Given the description of an element on the screen output the (x, y) to click on. 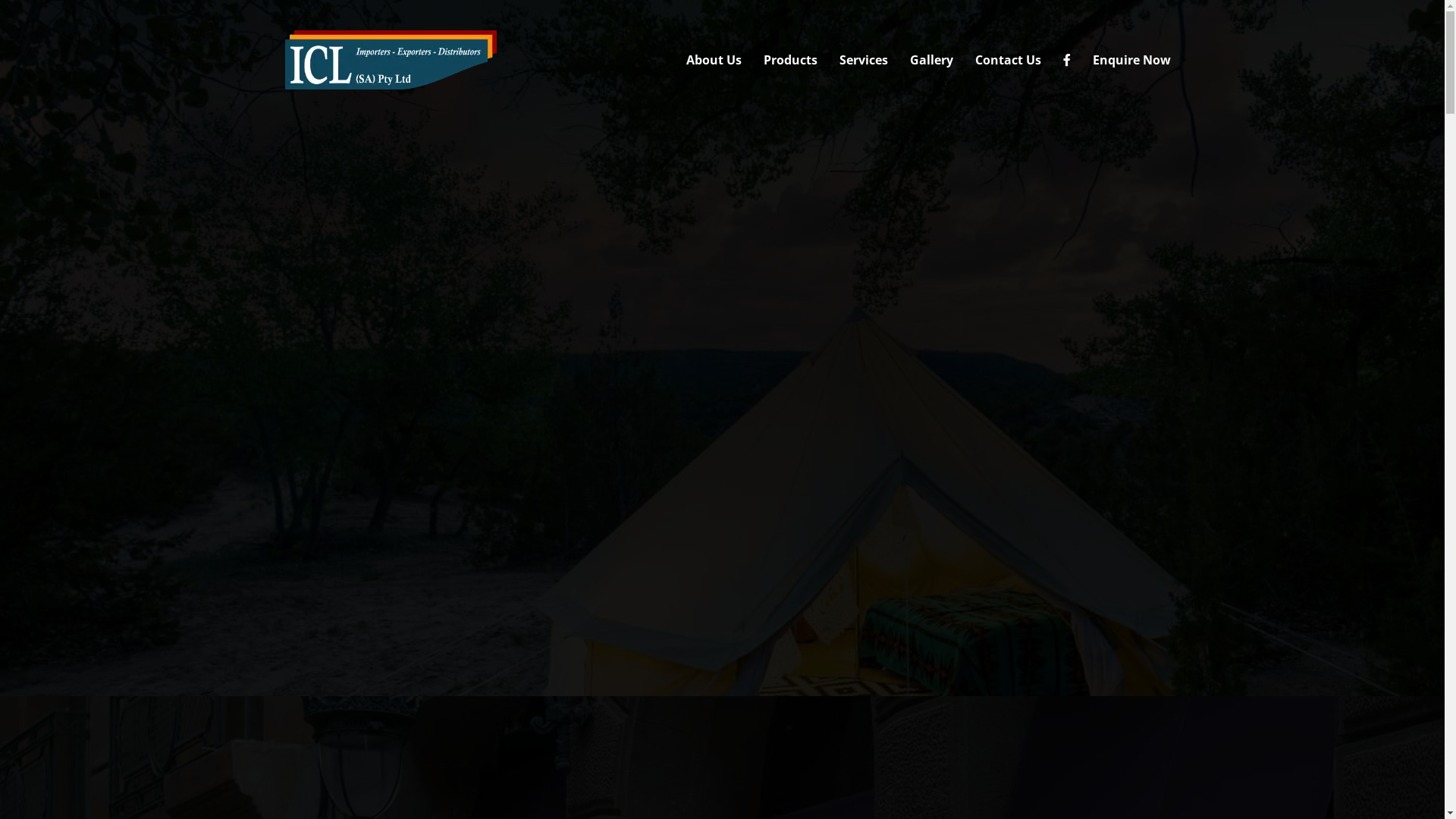
Services Element type: text (862, 59)
Contact Us Element type: text (1007, 59)
About Us Element type: text (712, 59)
Products Element type: text (789, 59)
Enquire Now Element type: text (1130, 59)
Gallery Element type: text (931, 59)
